Given the description of an element on the screen output the (x, y) to click on. 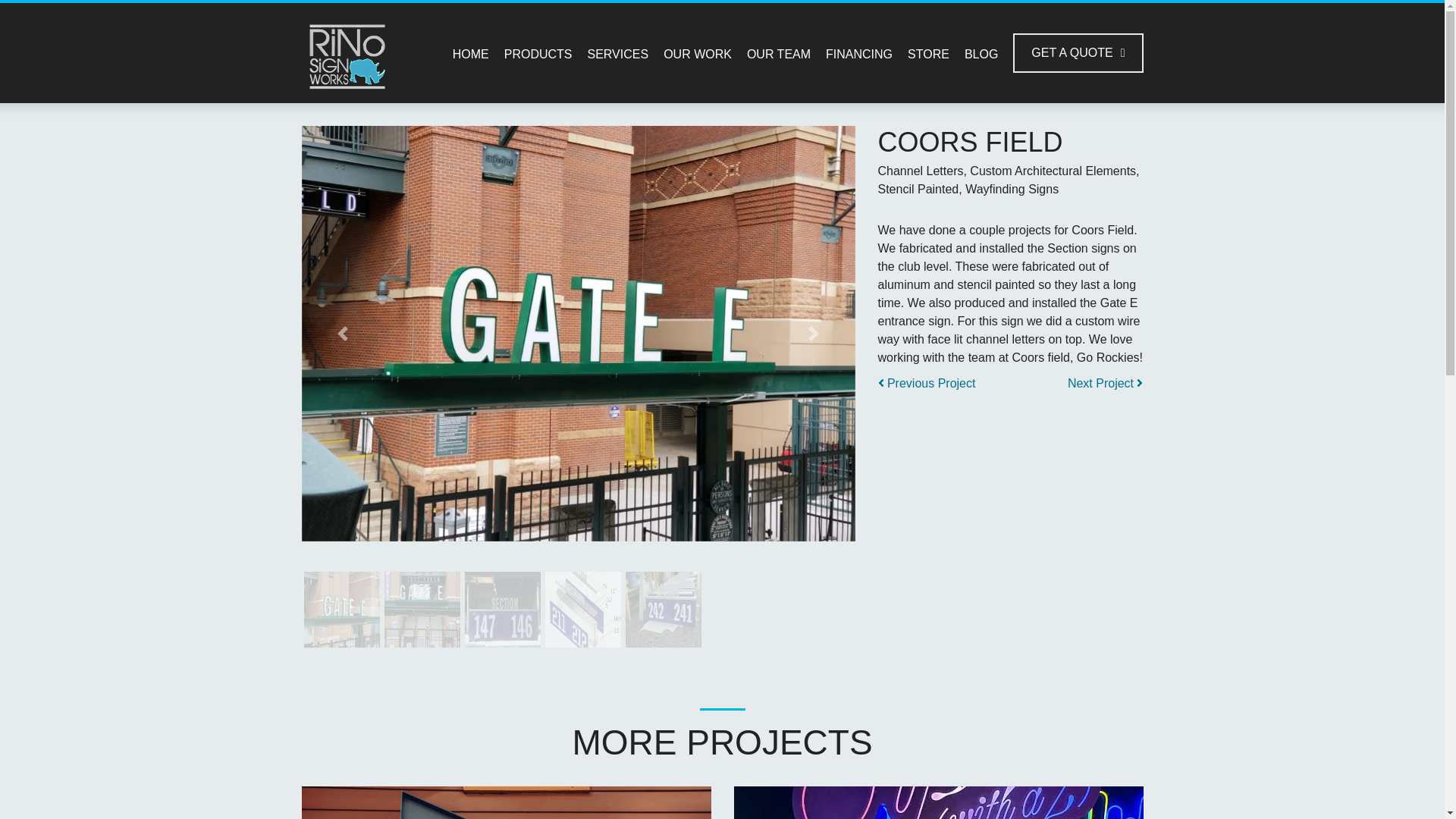
OUR WORK (697, 53)
STORE (928, 53)
Next Project (1104, 383)
GET A QUOTE (1077, 52)
OUR TEAM (778, 53)
Previous Project (926, 383)
FINANCING (858, 53)
PRODUCTS (537, 53)
SERVICES (616, 53)
